Given the description of an element on the screen output the (x, y) to click on. 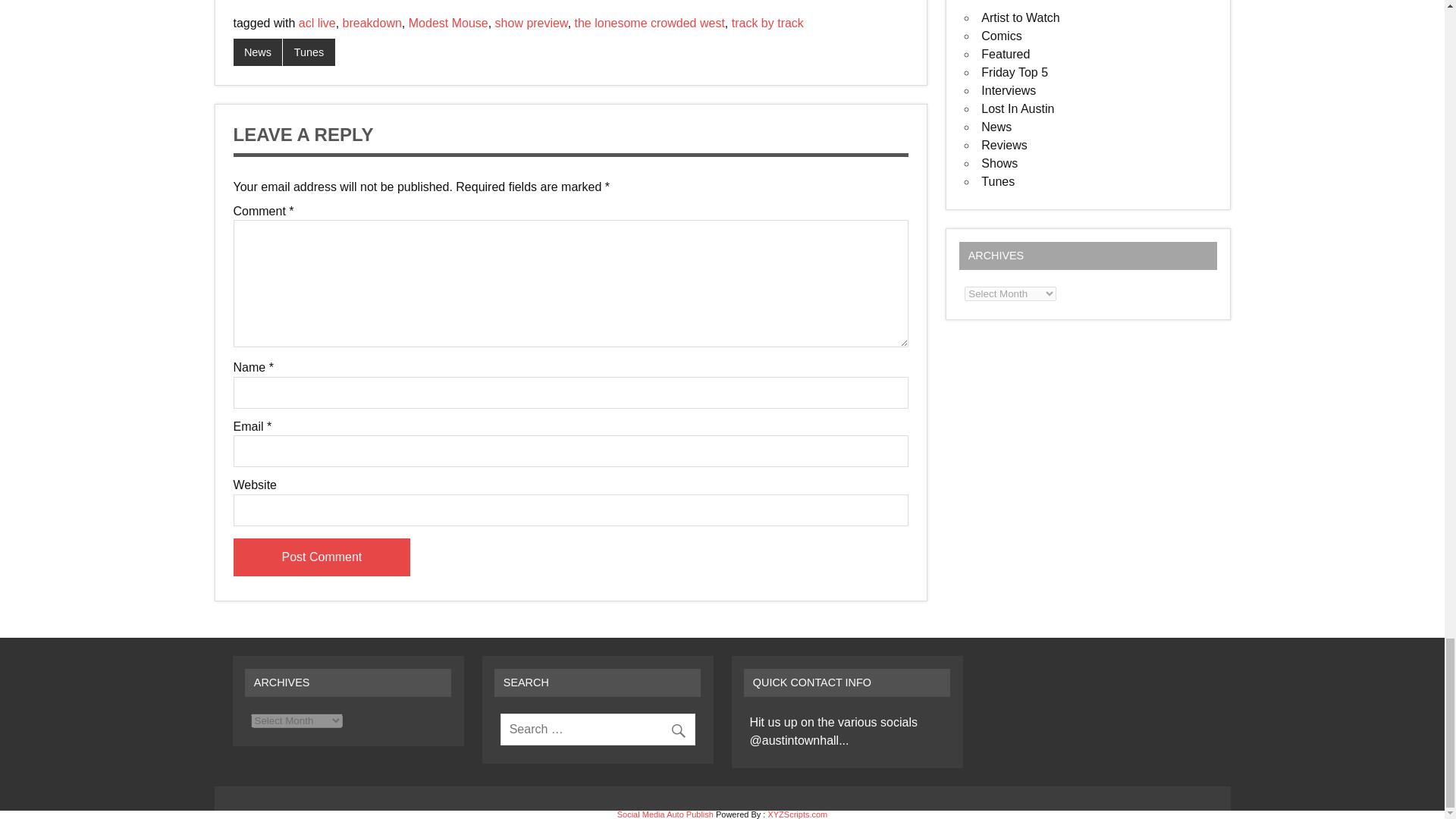
track by track (767, 22)
show preview (531, 22)
News (257, 52)
Tunes (308, 52)
the lonesome crowded west (650, 22)
Post Comment (321, 557)
Post Comment (321, 557)
Modest Mouse (448, 22)
breakdown (371, 22)
acl live (317, 22)
